Given the description of an element on the screen output the (x, y) to click on. 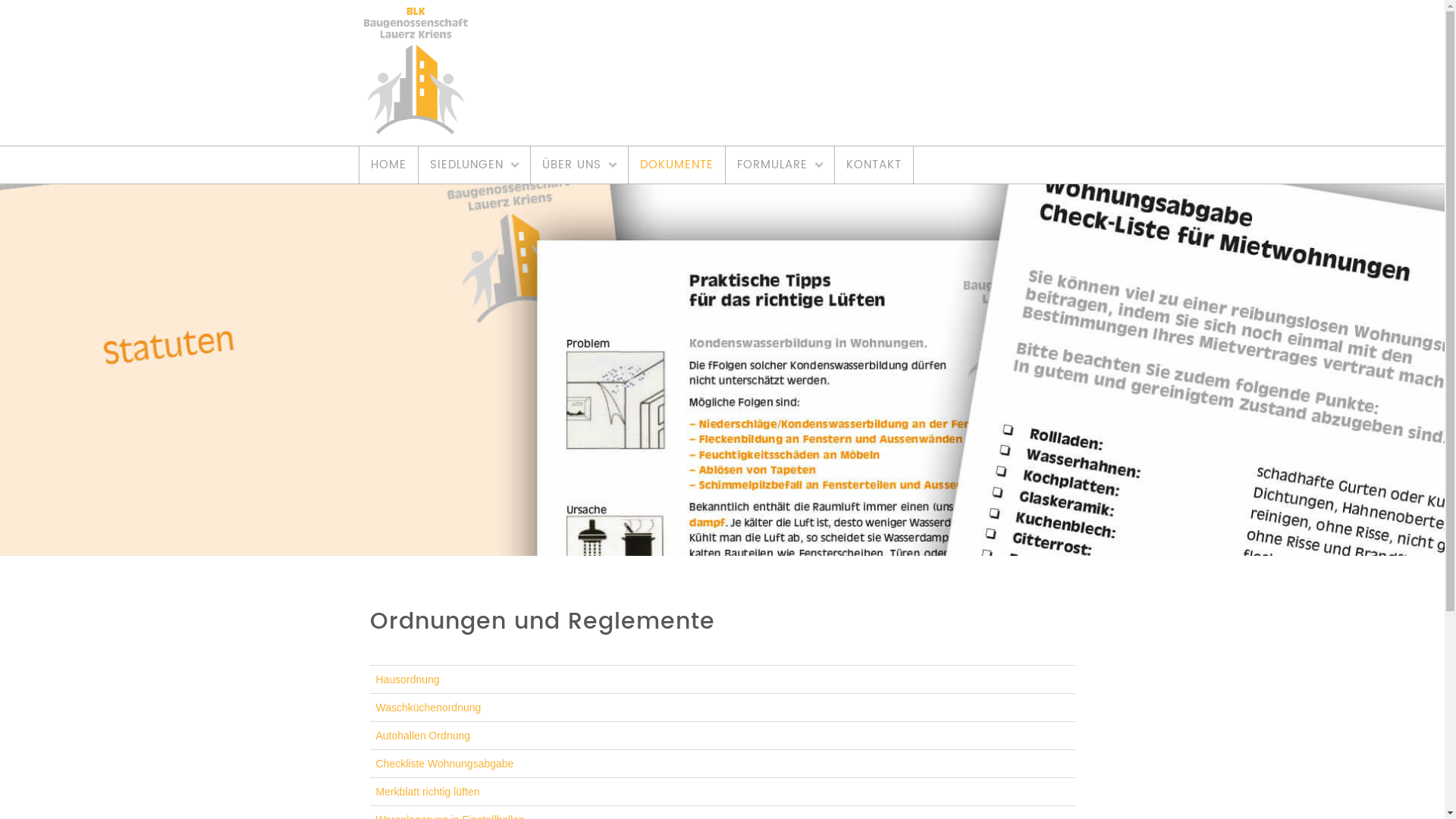
KONTAKT Element type: text (873, 164)
HOME Element type: text (388, 164)
FORMULARE Element type: text (778, 164)
Autohallen Ordnung Element type: text (423, 735)
Checkliste Wohnungsabgabe Element type: text (445, 763)
Hausordnung Element type: text (407, 679)
DOKUMENTE Element type: text (675, 164)
SIEDLUNGEN Element type: text (474, 164)
